Given the description of an element on the screen output the (x, y) to click on. 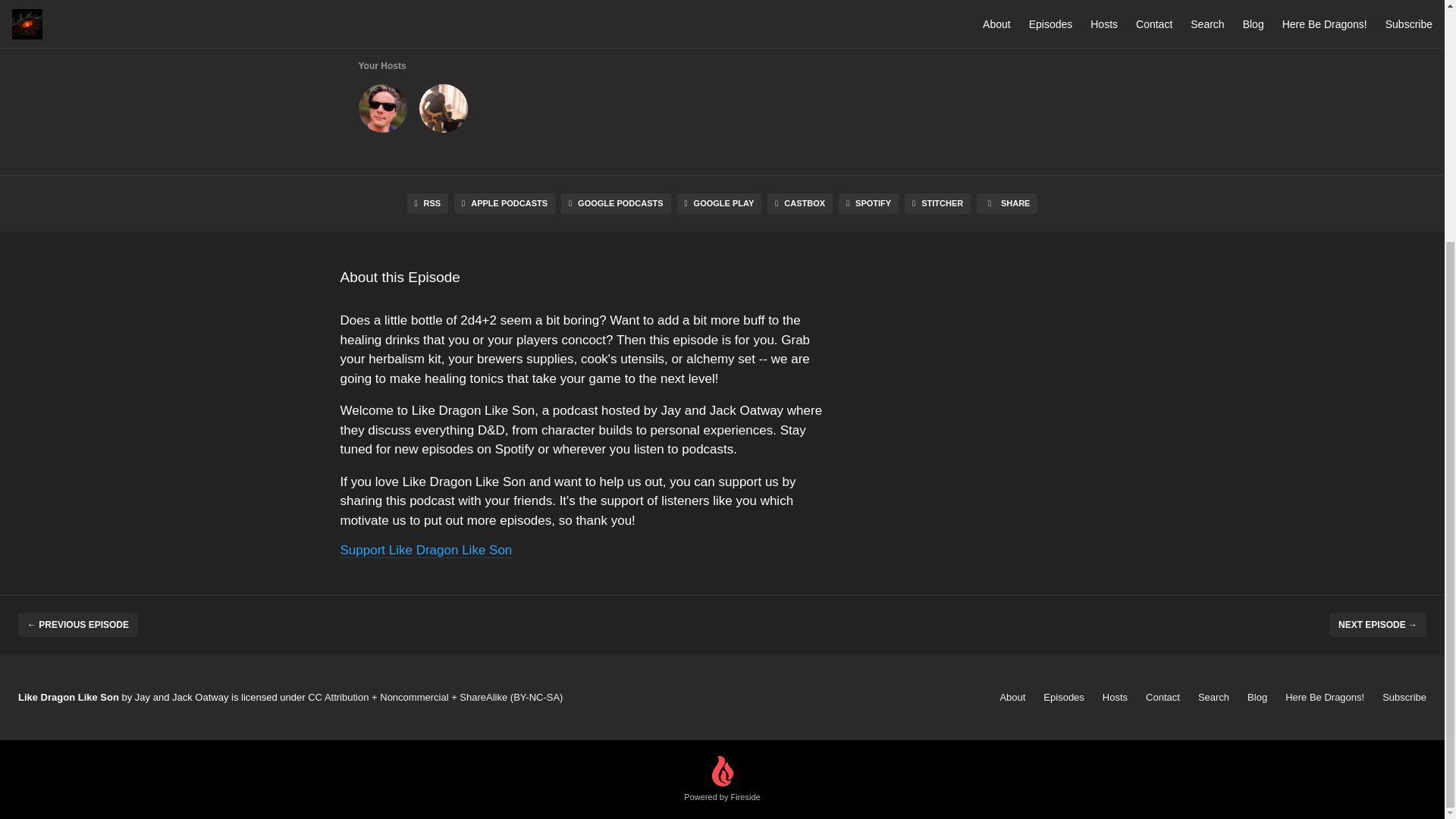
SHARE (1006, 203)
GOOGLE PODCASTS (615, 203)
Jack (443, 111)
SPOTIFY (868, 203)
APPLE PODCASTS (504, 203)
Jay (382, 111)
RSS (427, 203)
Powered by Fireside (722, 779)
STITCHER (937, 203)
CASTBOX (799, 203)
GOOGLE PLAY (719, 203)
Support Like Dragon Like Son (425, 549)
